Given the description of an element on the screen output the (x, y) to click on. 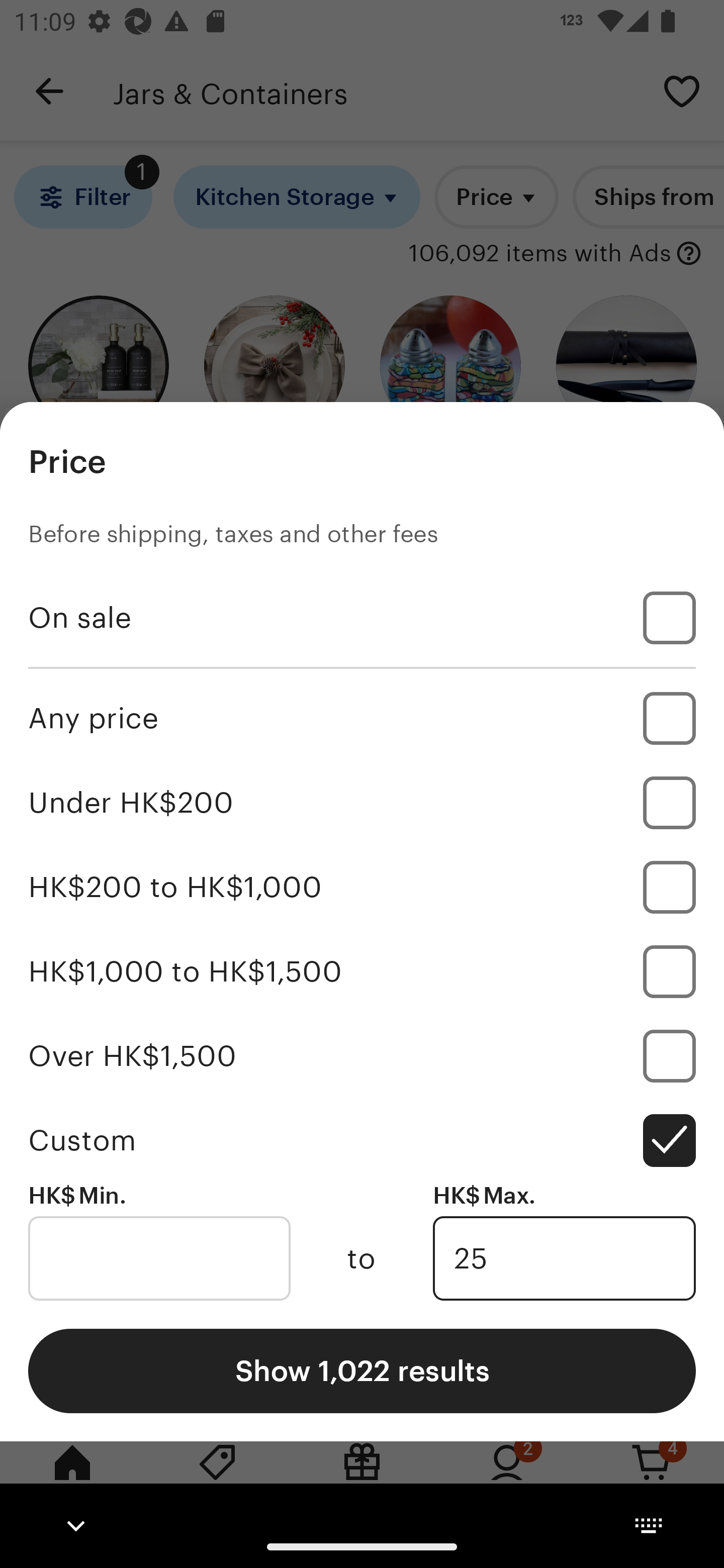
On sale (362, 617)
Any price (362, 717)
Under HK$200 (362, 802)
HK$200 to HK$1,000 (362, 887)
HK$1,000 to HK$1,500 (362, 970)
Over HK$1,500 (362, 1054)
Custom (362, 1139)
25 (563, 1257)
Show 1,022 results (361, 1370)
